Given the description of an element on the screen output the (x, y) to click on. 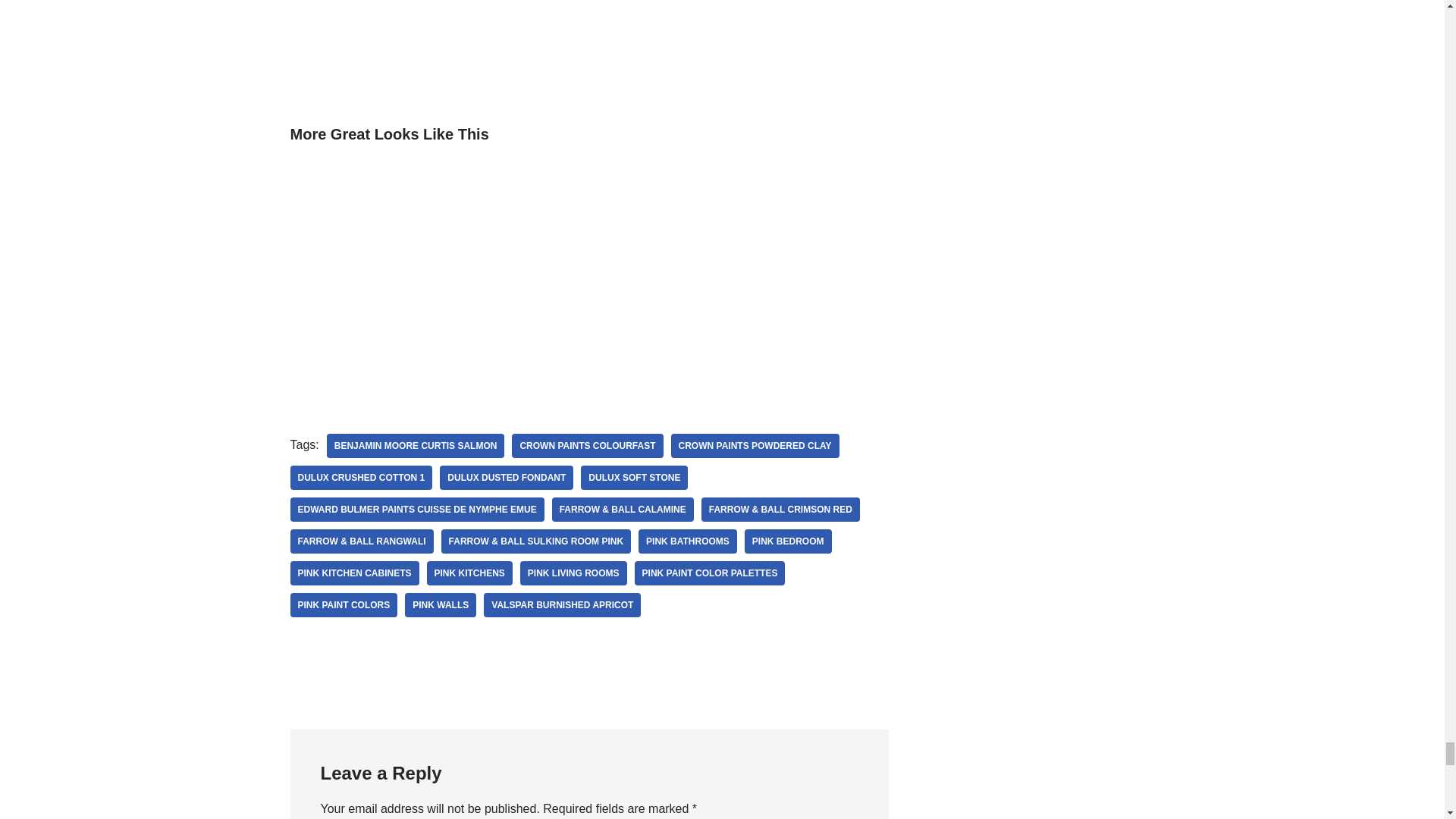
Edward Bulmer Paints Cuisse de Nymphe Emue (416, 509)
Benjamin Moore Curtis Salmon (415, 445)
Dulux Dusted Fondant (506, 477)
Crown Paints Powdered Clay (755, 445)
Crown Paints Colourfast (587, 445)
Dulux Crushed Cotton 1 (360, 477)
Dulux Soft Stone (633, 477)
